Given the description of an element on the screen output the (x, y) to click on. 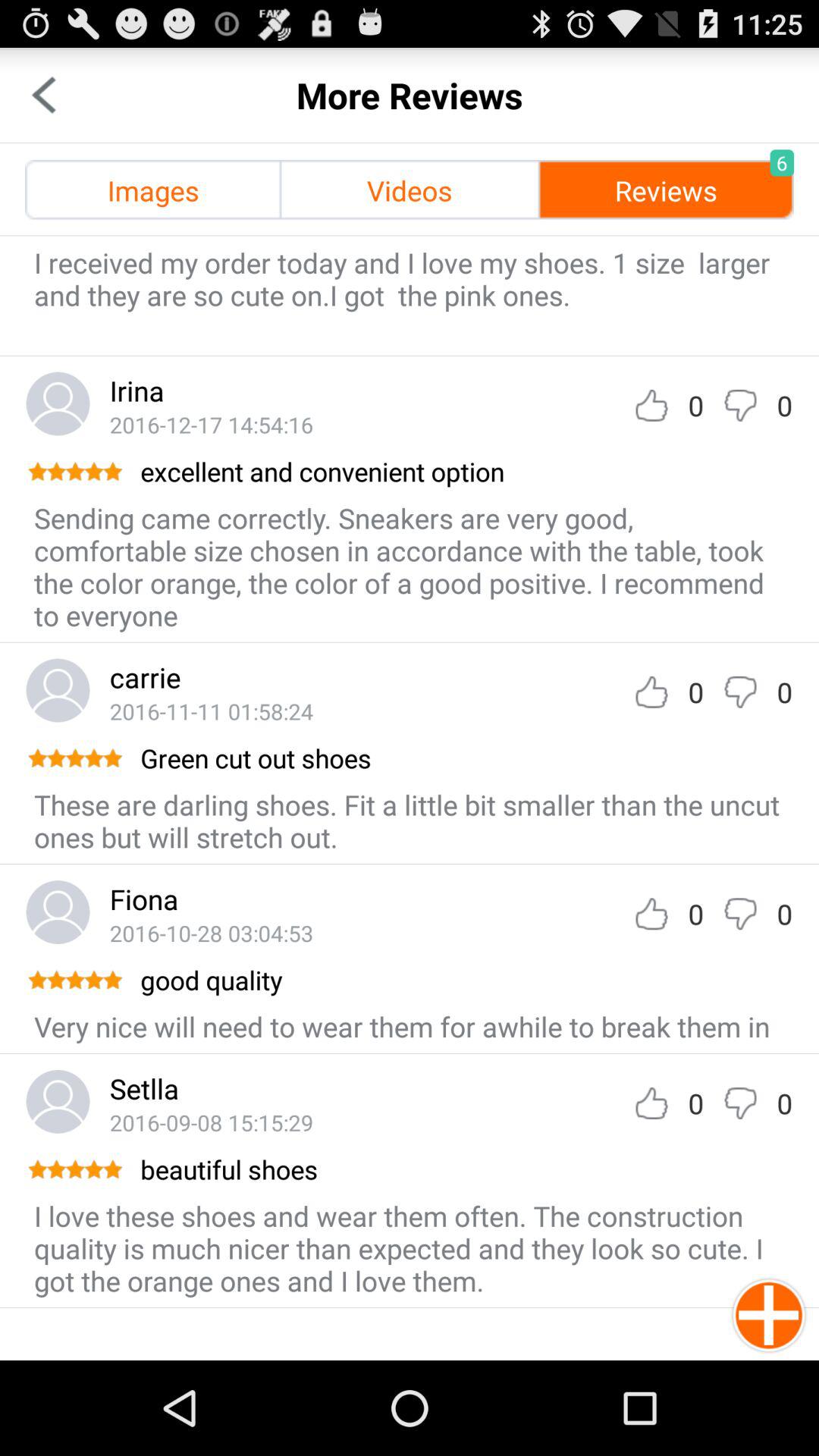
like (651, 692)
